Given the description of an element on the screen output the (x, y) to click on. 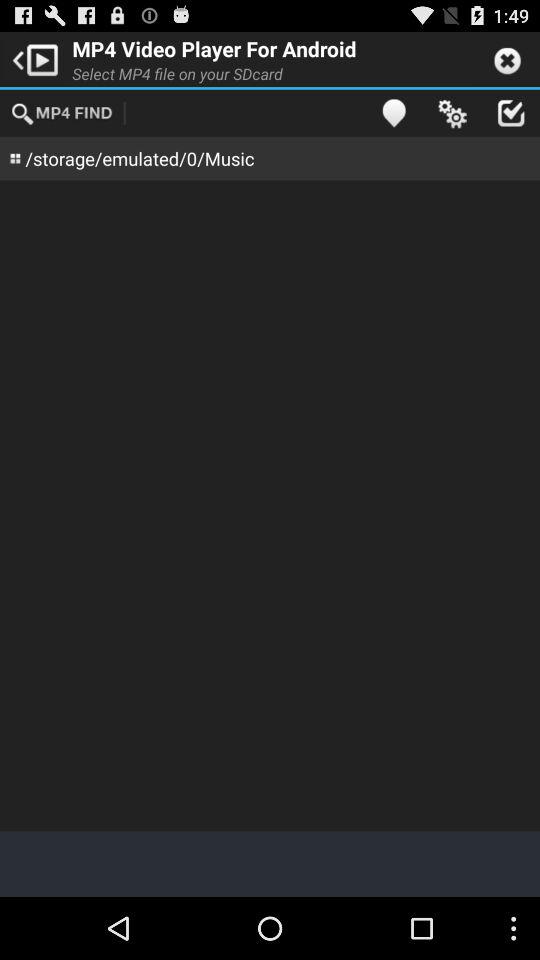
turn off the app next to the select mp4 file item (393, 112)
